Given the description of an element on the screen output the (x, y) to click on. 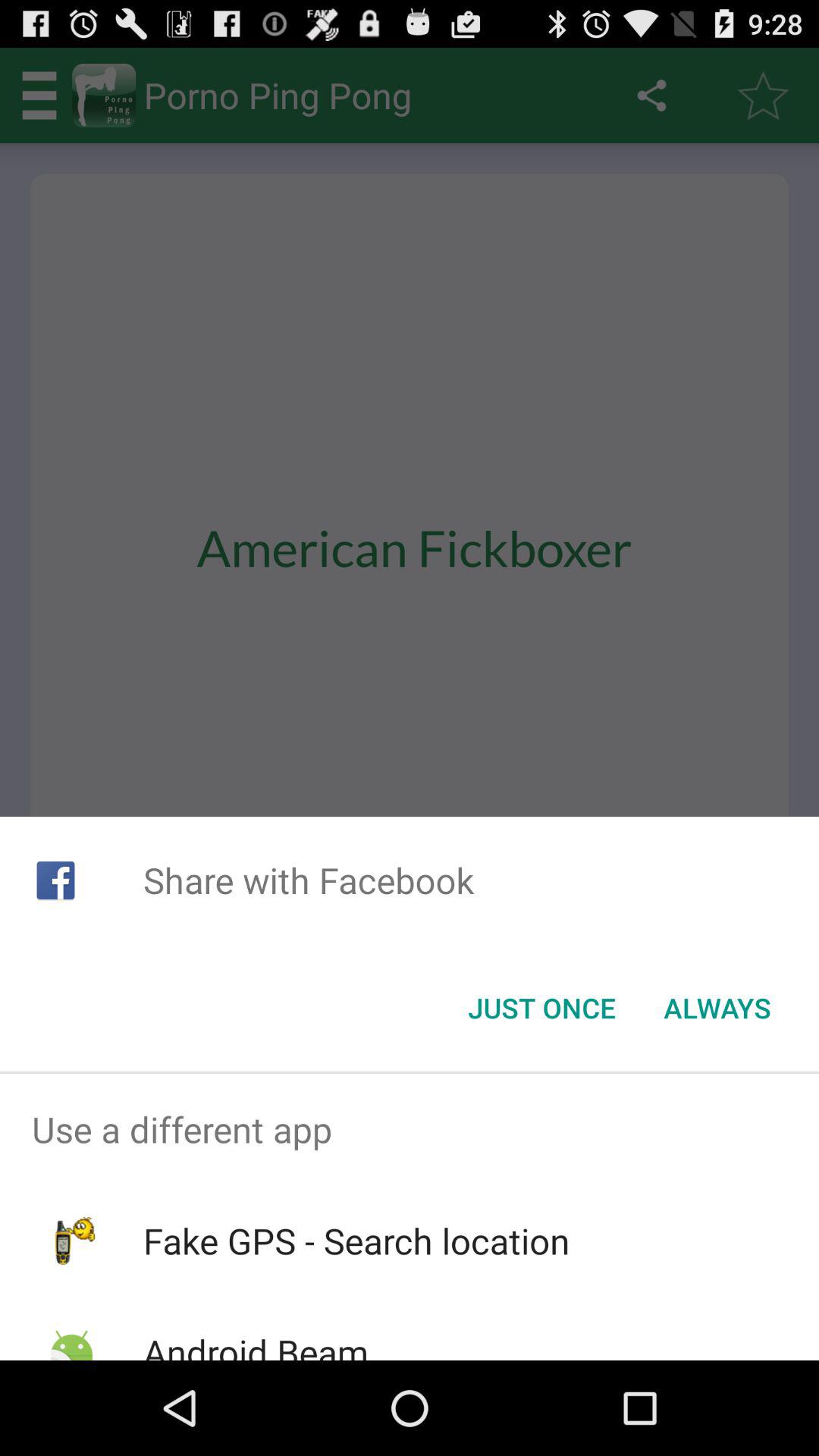
select the icon to the left of always button (541, 1007)
